Given the description of an element on the screen output the (x, y) to click on. 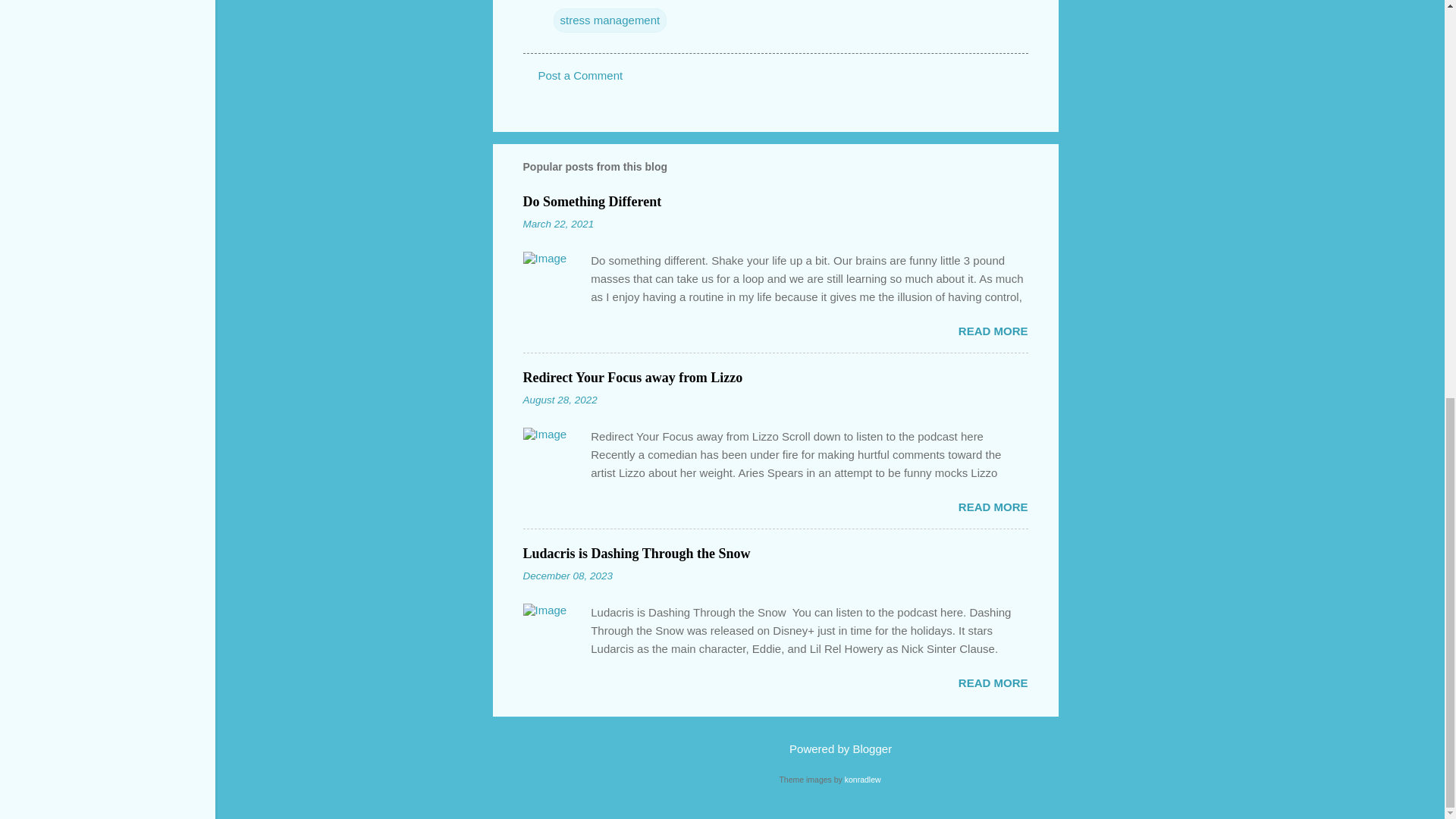
March 22, 2021 (558, 224)
Do Something Different (592, 201)
Post a Comment (580, 74)
August 28, 2022 (559, 399)
December 08, 2023 (567, 575)
stress management (609, 20)
Powered by Blogger (829, 748)
Redirect Your Focus away from Lizzo (632, 377)
READ MORE (992, 682)
permanent link (558, 224)
